Given the description of an element on the screen output the (x, y) to click on. 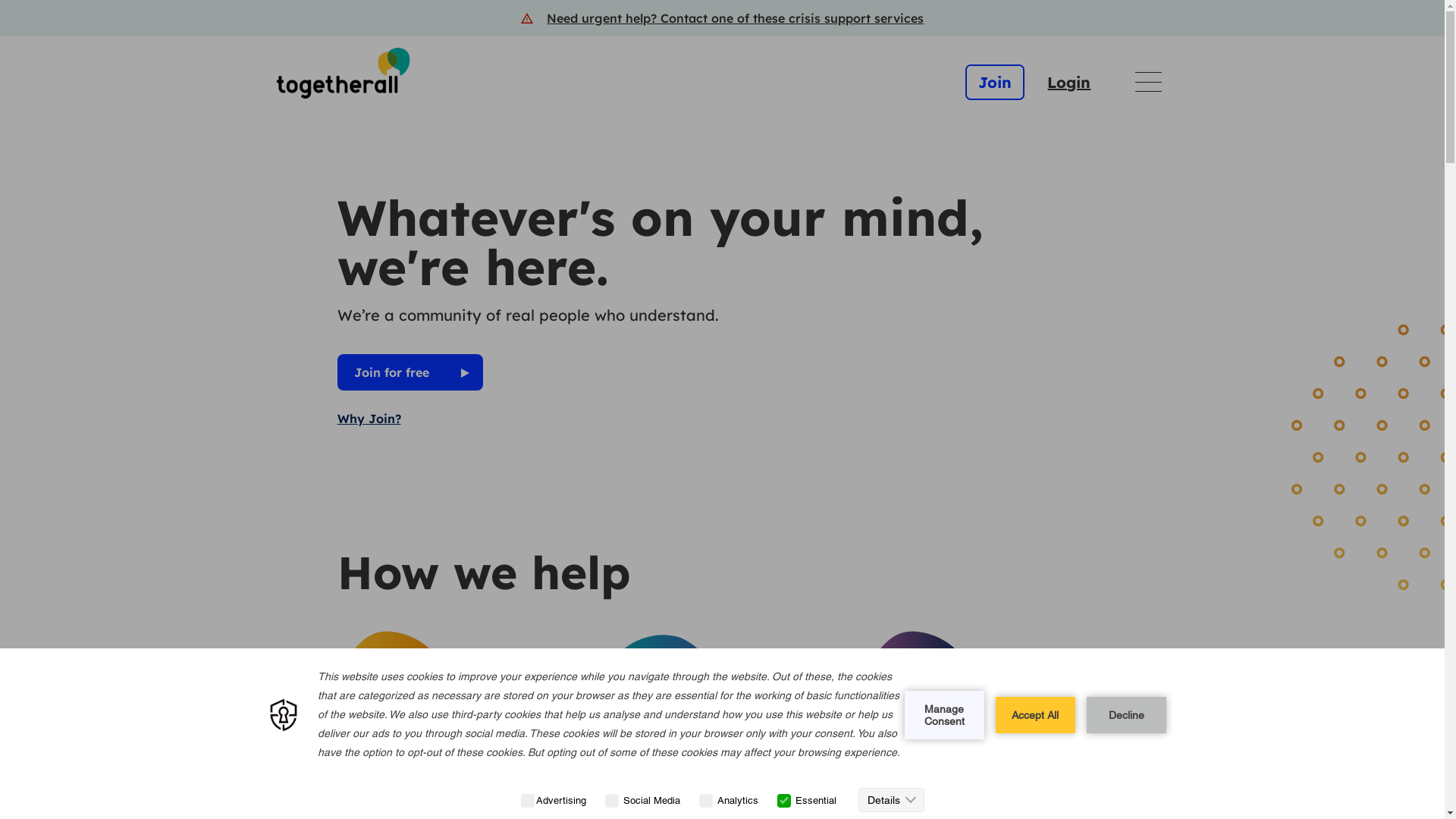
Join Element type: text (994, 82)
Login Element type: text (1068, 81)
Why Join? Element type: text (368, 418)
Join for free Element type: text (409, 372)
Skip to main content Element type: text (11, 7)
